Given the description of an element on the screen output the (x, y) to click on. 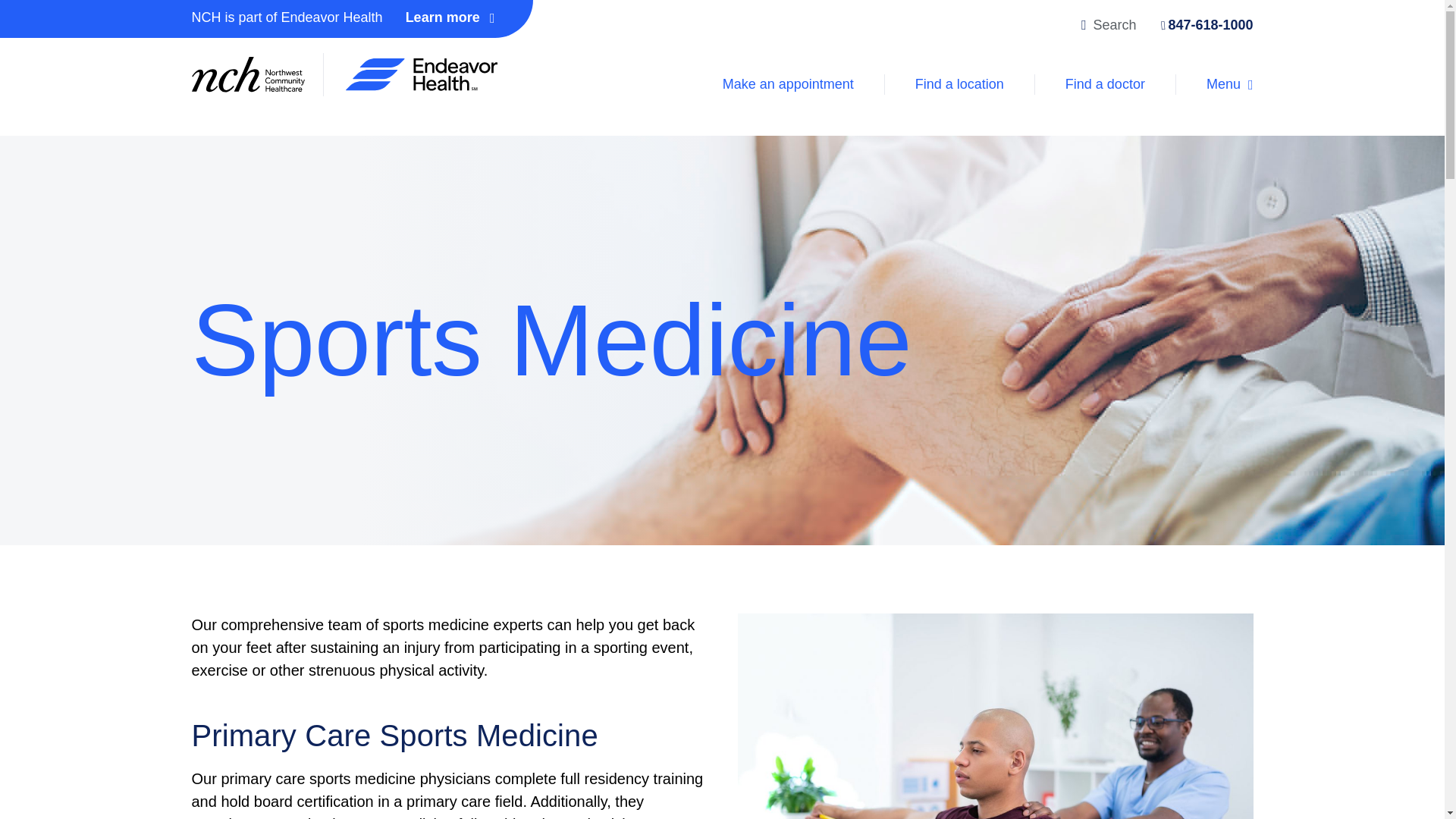
Learn more (438, 18)
Find a location (960, 84)
 847-618-1000 (1202, 25)
Make an appointment (789, 84)
Menu (1214, 84)
Search (1123, 25)
Find a doctor (1105, 84)
